Given the description of an element on the screen output the (x, y) to click on. 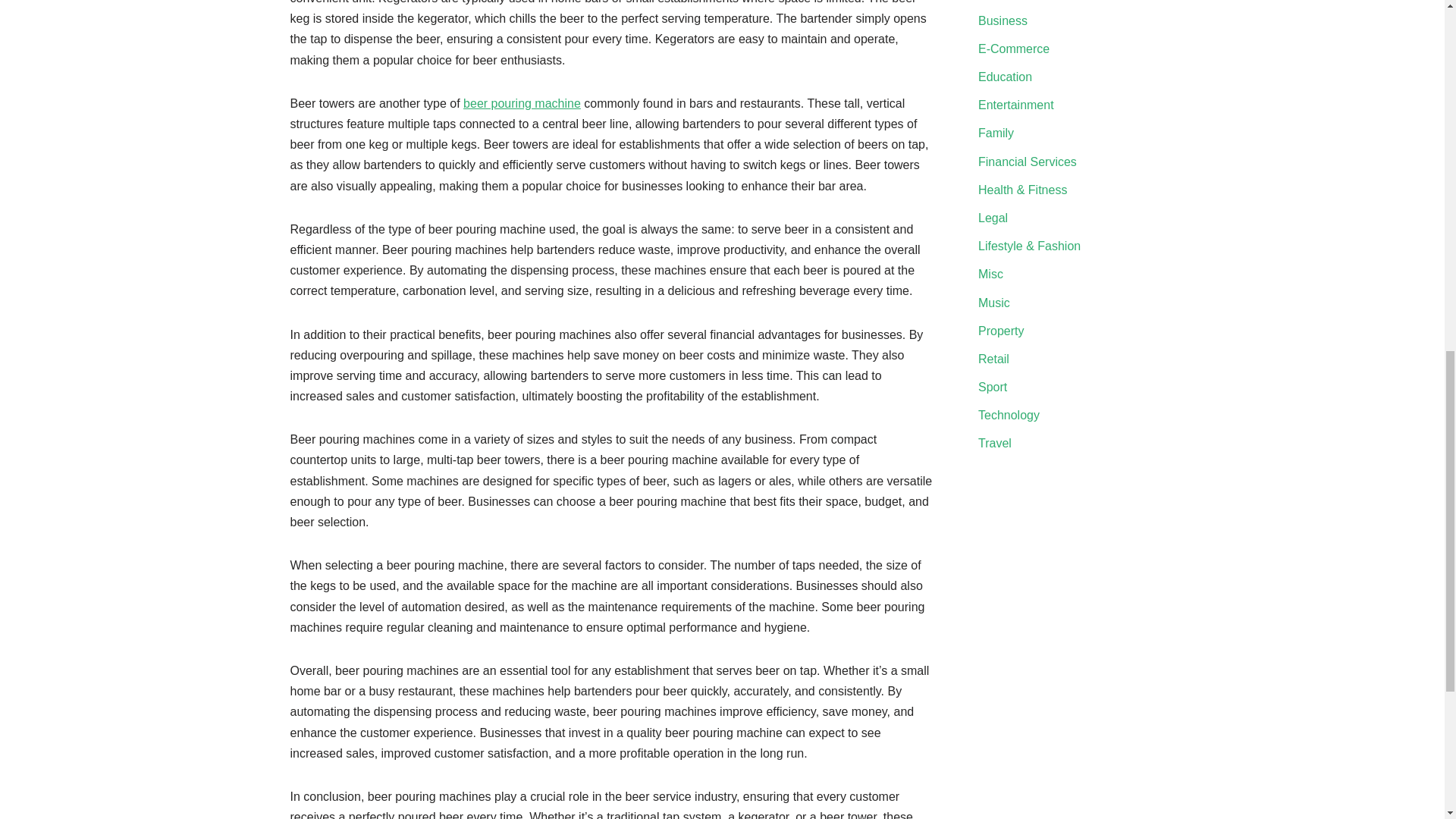
beer pouring machine (521, 103)
